Given the description of an element on the screen output the (x, y) to click on. 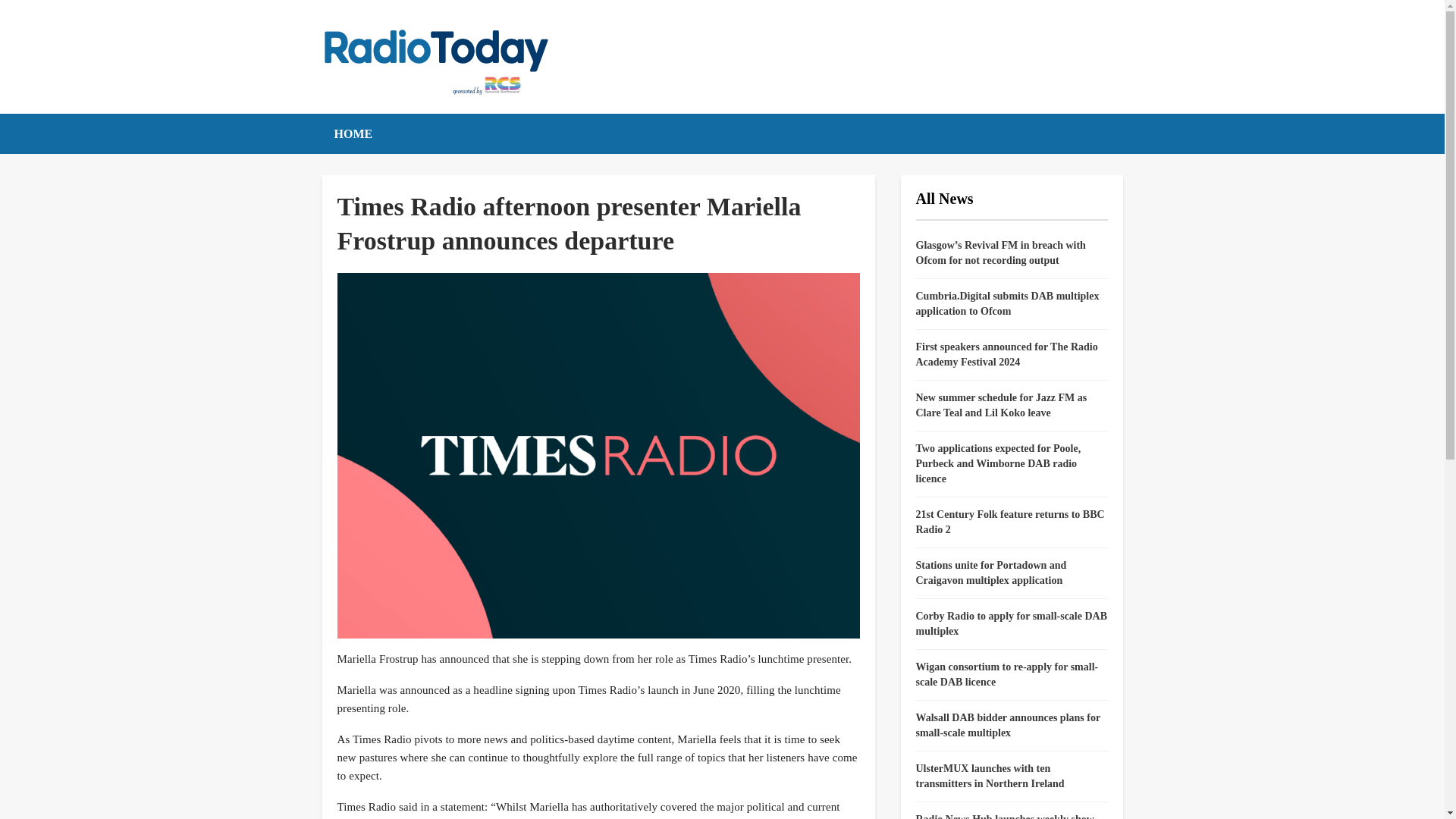
Corby Radio to apply for small-scale DAB multiplex (1011, 623)
21st Century Folk feature returns to BBC Radio 2 (1010, 521)
UlsterMUX launches with ten transmitters in Northern Ireland (989, 775)
First speakers announced for The Radio Academy Festival 2024 (1006, 354)
Cumbria.Digital submits DAB multiplex application to Ofcom (1007, 303)
Walsall DAB bidder announces plans for small-scale multiplex (1007, 724)
HOME (352, 133)
Radio News Hub launches weekly show with Dr Hilary Jones (1004, 816)
Wigan consortium to re-apply for small-scale DAB licence (1007, 673)
